Given the description of an element on the screen output the (x, y) to click on. 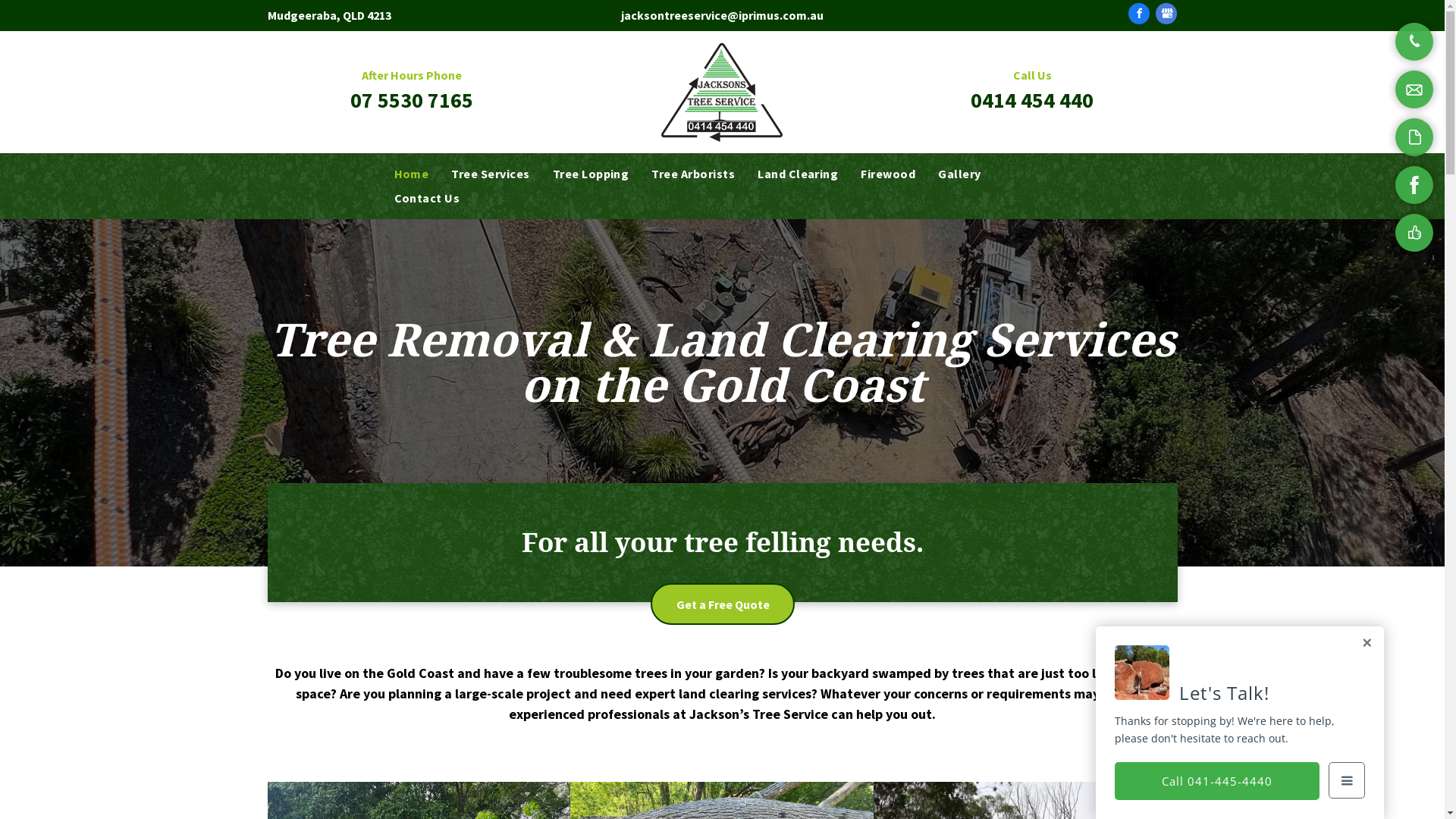
Mudgeeraba, QLD 4213 Element type: text (328, 14)
Home Element type: text (410, 173)
jacksontreeservice@iprimus.com.au Element type: text (722, 14)
Gallery Element type: text (958, 173)
0414 454 440 Element type: text (1031, 99)
07 5530 7165 Element type: text (411, 99)
Firewood Element type: text (887, 173)
Contact Us Element type: text (426, 197)
Tree Lopping Element type: text (590, 173)
Tree Arborists Element type: text (693, 173)
Tree Services Element type: text (489, 173)
Get a Free Quote Element type: text (722, 603)
Land Clearing Element type: text (797, 173)
Call 041-445-4440 Element type: text (1216, 781)
